Given the description of an element on the screen output the (x, y) to click on. 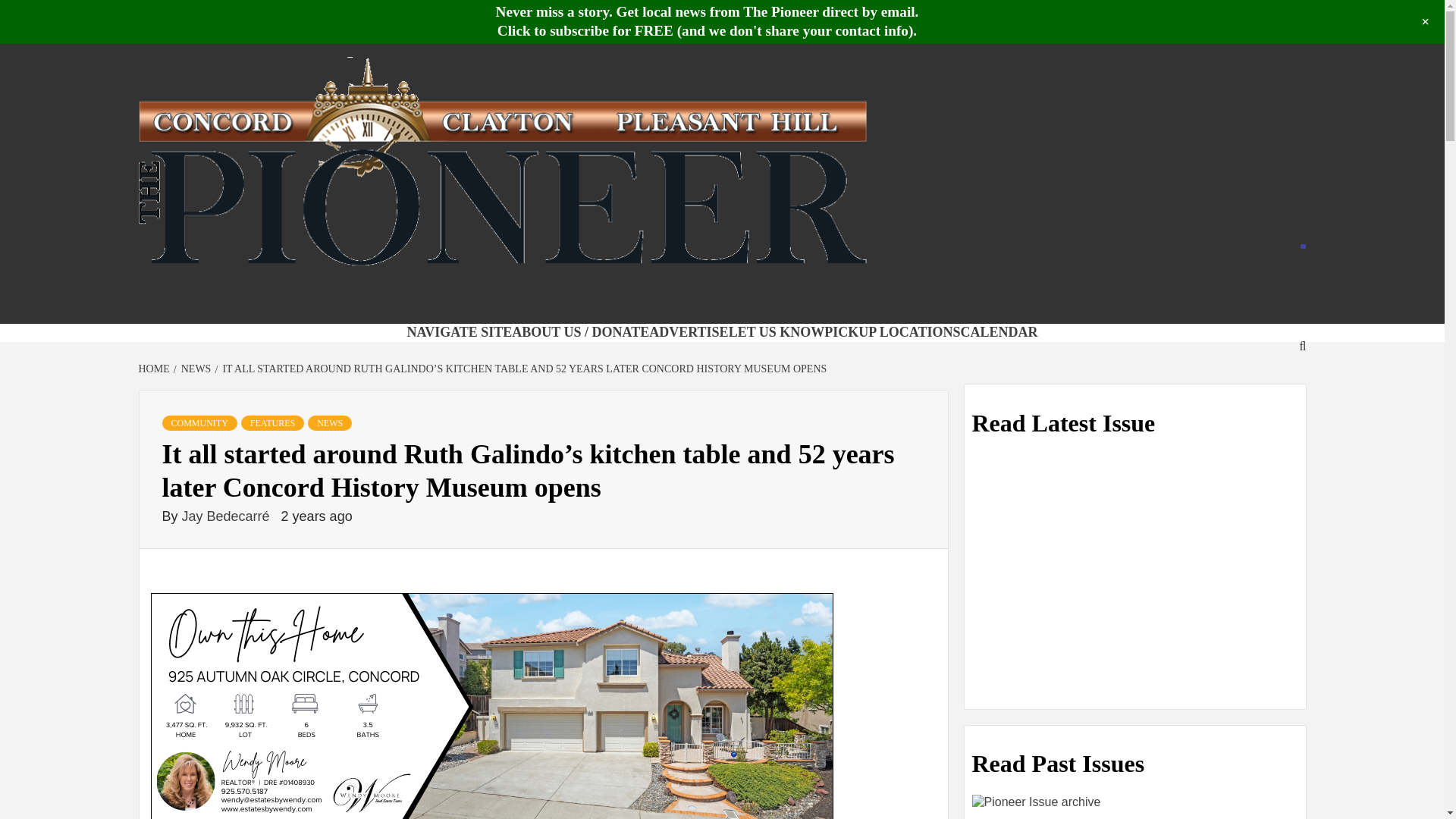
NAVIGATE SITE (459, 331)
LET US KNOW (777, 331)
PICKUP LOCATIONS (891, 331)
ADVERTISE (688, 331)
HOME (155, 368)
CALENDAR (999, 331)
